Given the description of an element on the screen output the (x, y) to click on. 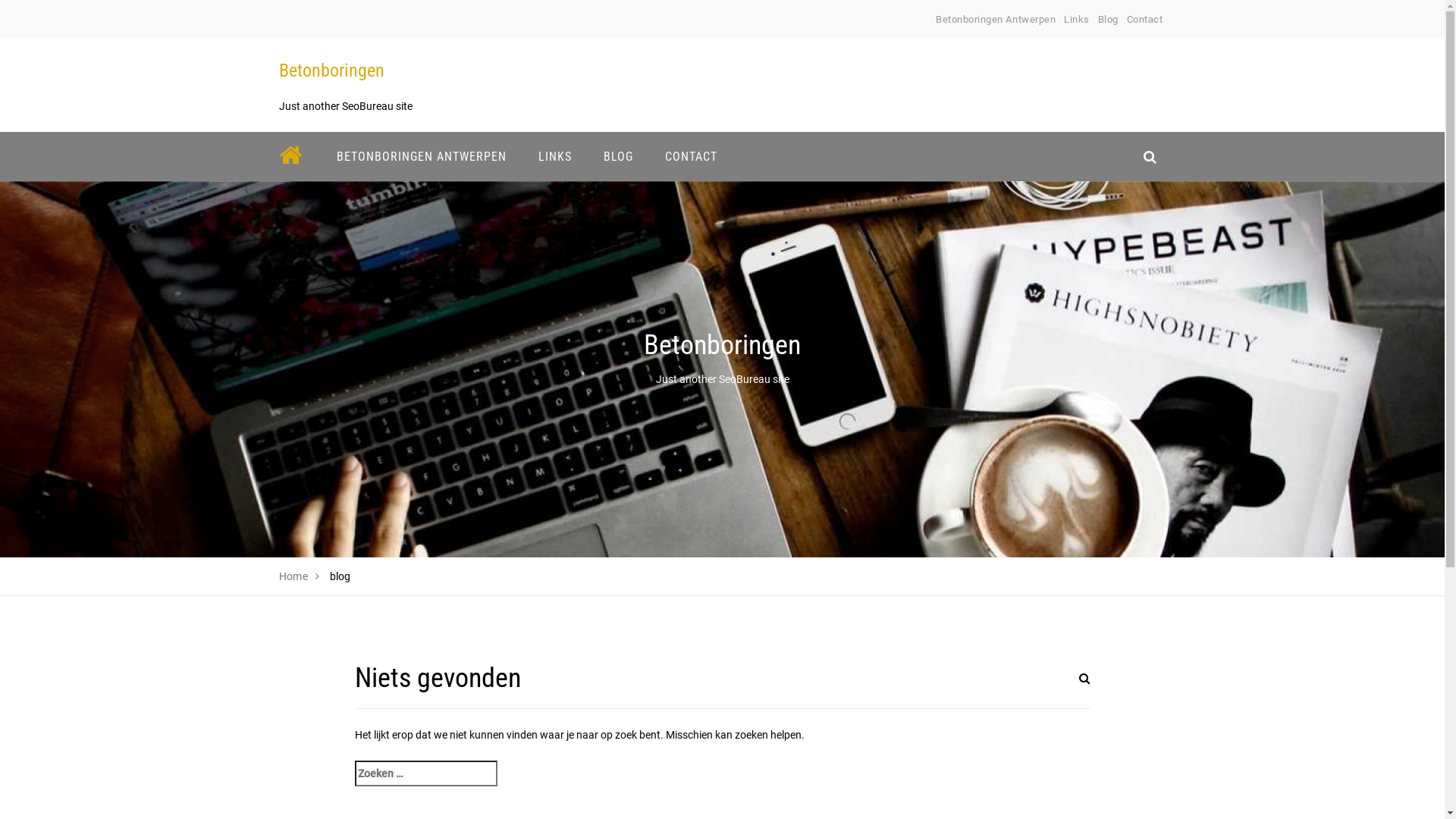
Betonboringen Antwerpen Element type: text (995, 19)
CONTACT Element type: text (691, 156)
Zoeken Element type: text (1066, 687)
Contact Element type: text (1144, 19)
Betonboringen Element type: text (331, 70)
Home Element type: text (293, 576)
LINKS Element type: text (553, 156)
search_icon Element type: hover (1148, 156)
Blog Element type: text (1108, 19)
Links Element type: text (1076, 19)
BETONBORINGEN ANTWERPEN Element type: text (420, 156)
BLOG Element type: text (617, 156)
